Given the description of an element on the screen output the (x, y) to click on. 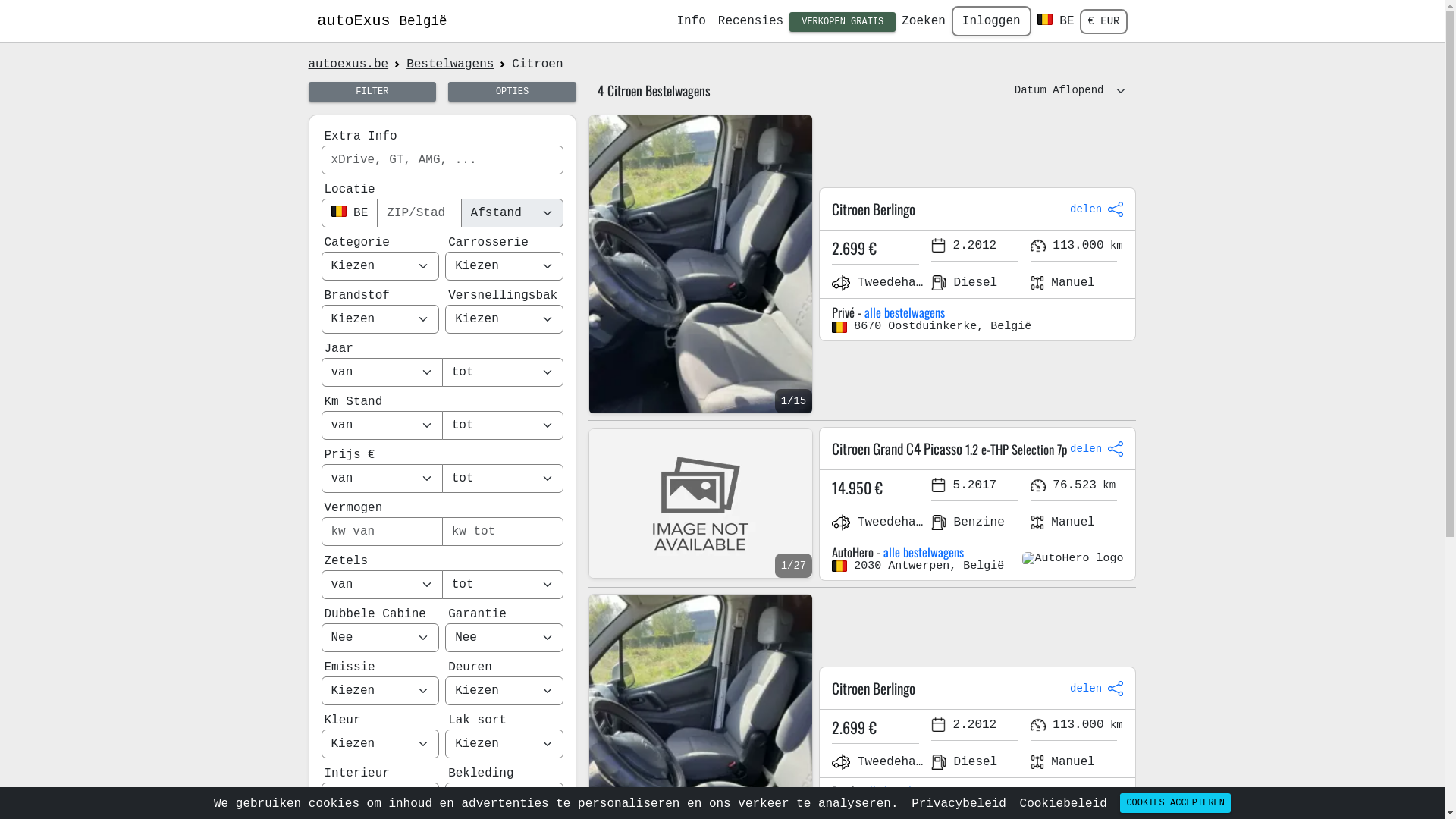
Citroen Berlingo Element type: text (947, 687)
Bestelwagens Element type: text (449, 64)
alle bestelwagens Element type: text (904, 311)
BE Element type: text (1055, 21)
OPTIES Element type: text (512, 91)
alle bestelwagens Element type: text (904, 790)
Cookiebeleid Element type: text (1063, 803)
Citroen Berlingo - Oostduinkerke BE Element type: hover (700, 264)
FILTER Element type: text (371, 91)
delen Element type: text (1096, 688)
alle bestelwagens Element type: text (923, 551)
Citroen Grand C4 Picasso - Antwerpen BE Element type: hover (700, 503)
Info Element type: text (690, 21)
Zoeken Element type: text (923, 21)
Recensies Element type: text (750, 21)
delen Element type: text (1096, 209)
Citroen Berlingo Element type: text (947, 208)
BE Element type: text (349, 212)
autoexus.be Element type: text (347, 64)
Privacybeleid Element type: text (958, 803)
COOKIES ACCEPTEREN Element type: text (1175, 802)
Inloggen Element type: text (991, 21)
delen Element type: text (1096, 448)
VERKOPEN GRATIS Element type: text (842, 21)
